Given the description of an element on the screen output the (x, y) to click on. 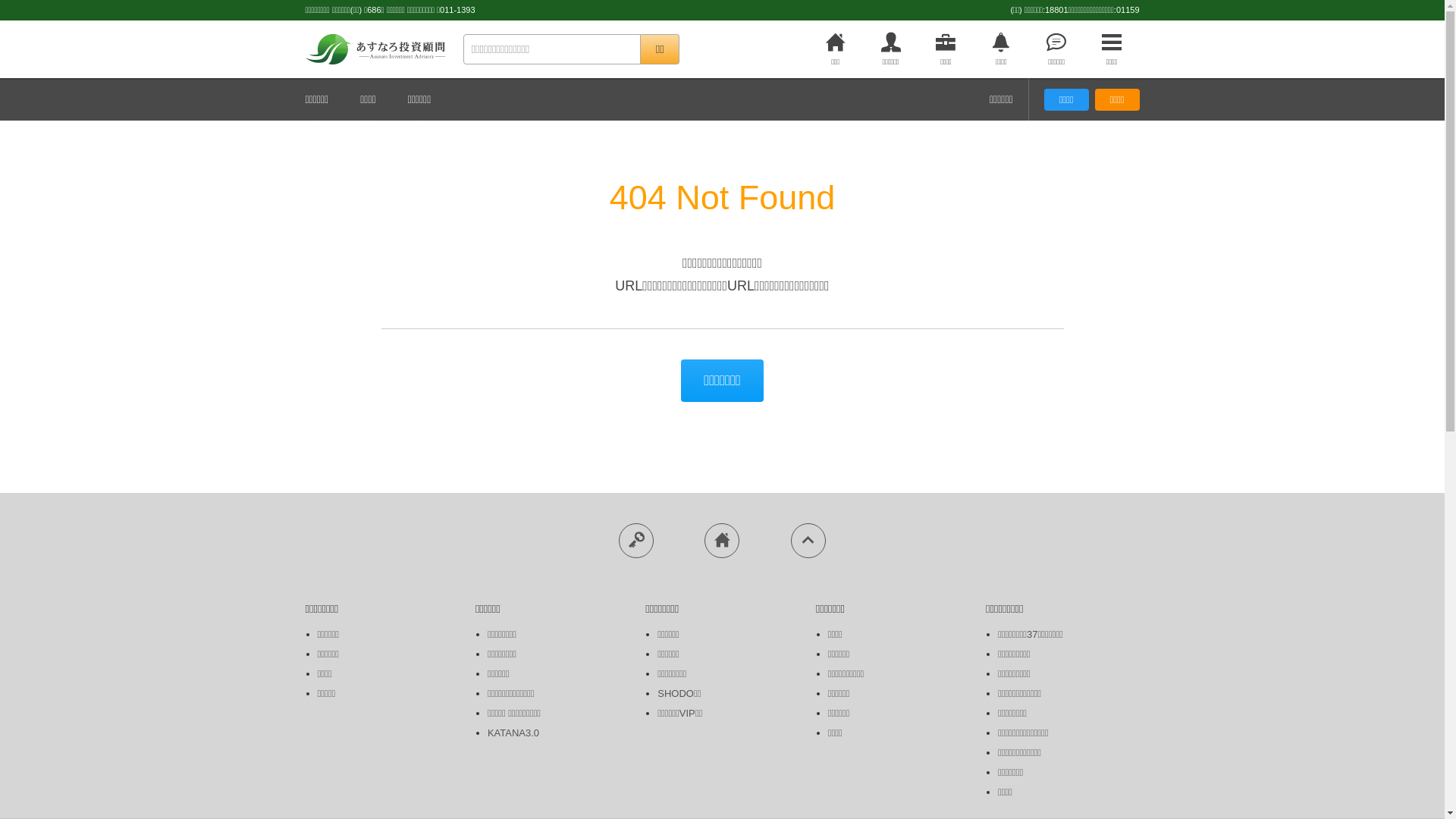
KATANA3.0 Element type: text (513, 732)
